Given the description of an element on the screen output the (x, y) to click on. 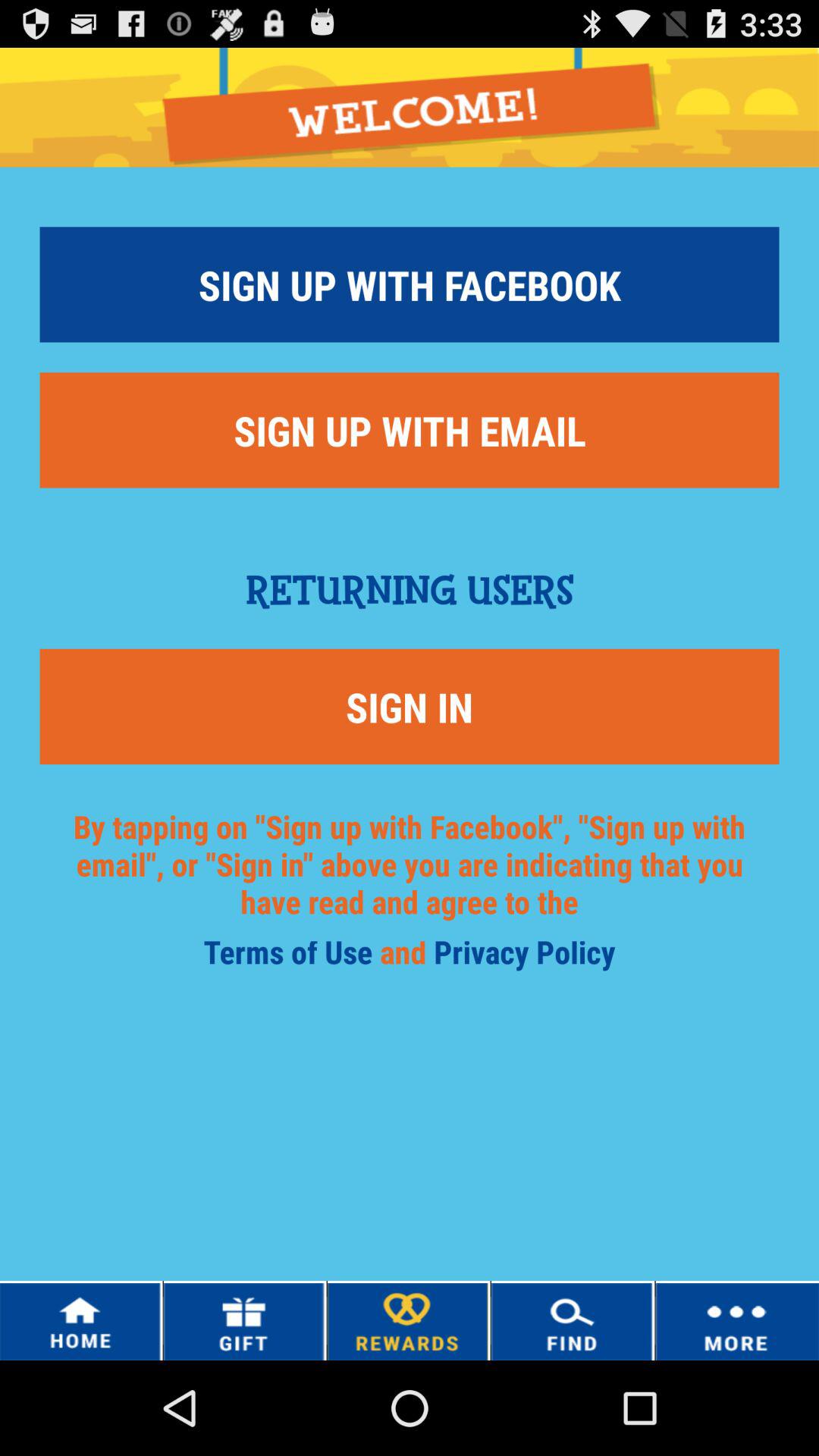
turn off item to the right of and (524, 957)
